Given the description of an element on the screen output the (x, y) to click on. 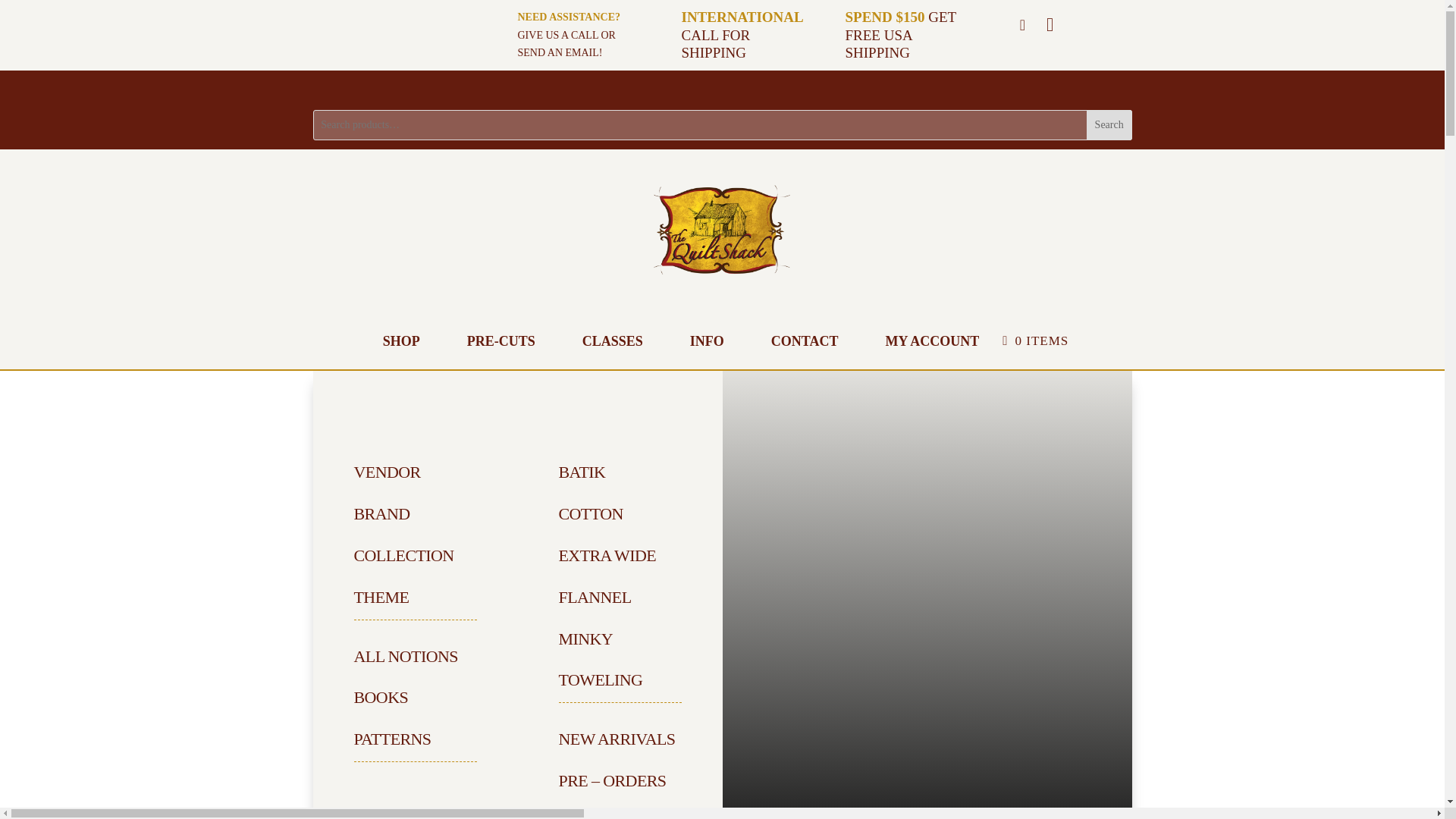
CLASSES (612, 340)
INFO (707, 340)
0 ITEMS (1035, 340)
SHOP (401, 340)
Search (1109, 124)
MY ACCOUNT (931, 340)
CONTACT (804, 340)
PRE-CUTS (500, 340)
